Given the description of an element on the screen output the (x, y) to click on. 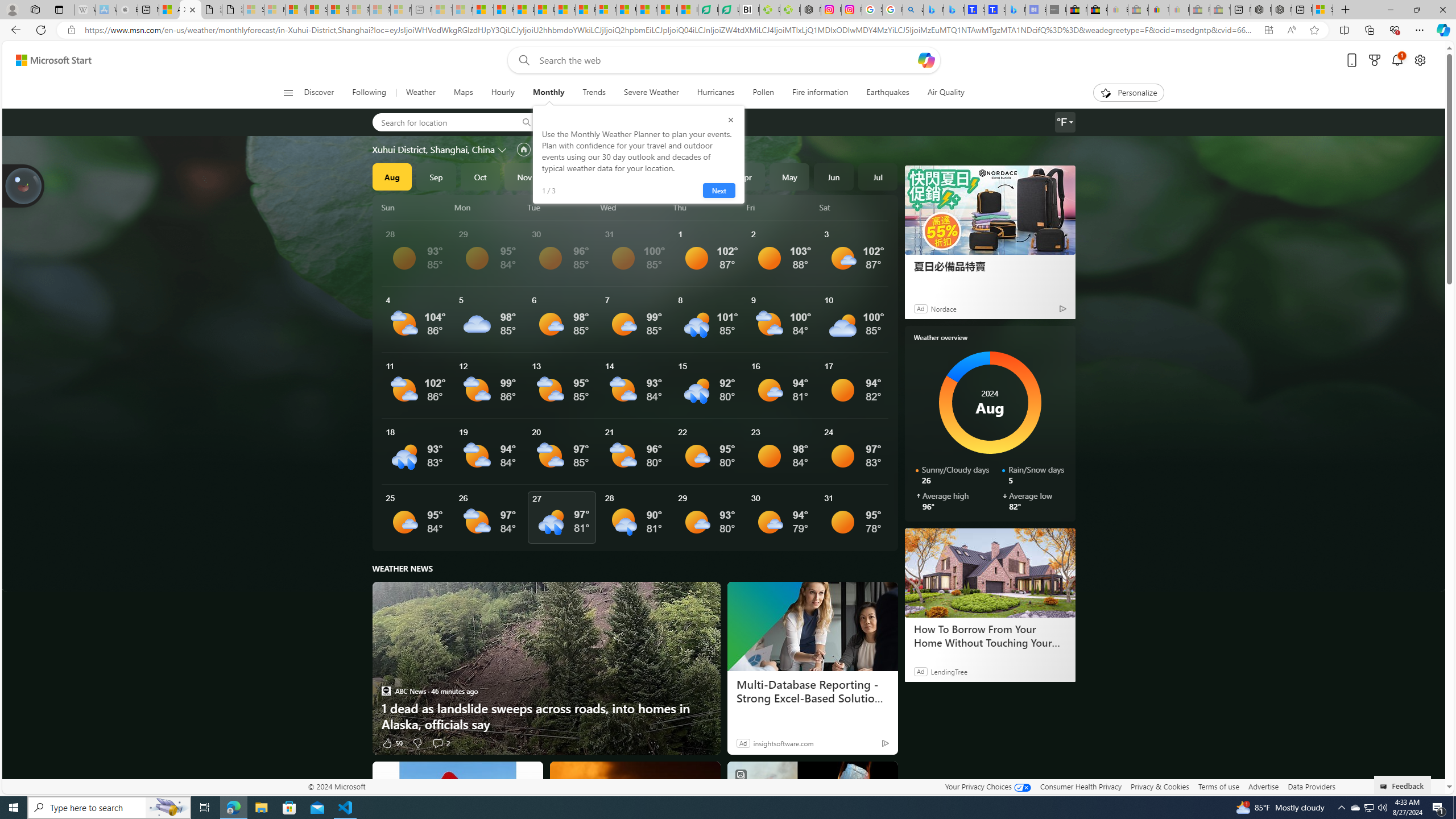
Aug (391, 176)
Monthly (548, 92)
insightsoftware.com (782, 742)
Feb (657, 176)
Fire information (820, 92)
